Given the description of an element on the screen output the (x, y) to click on. 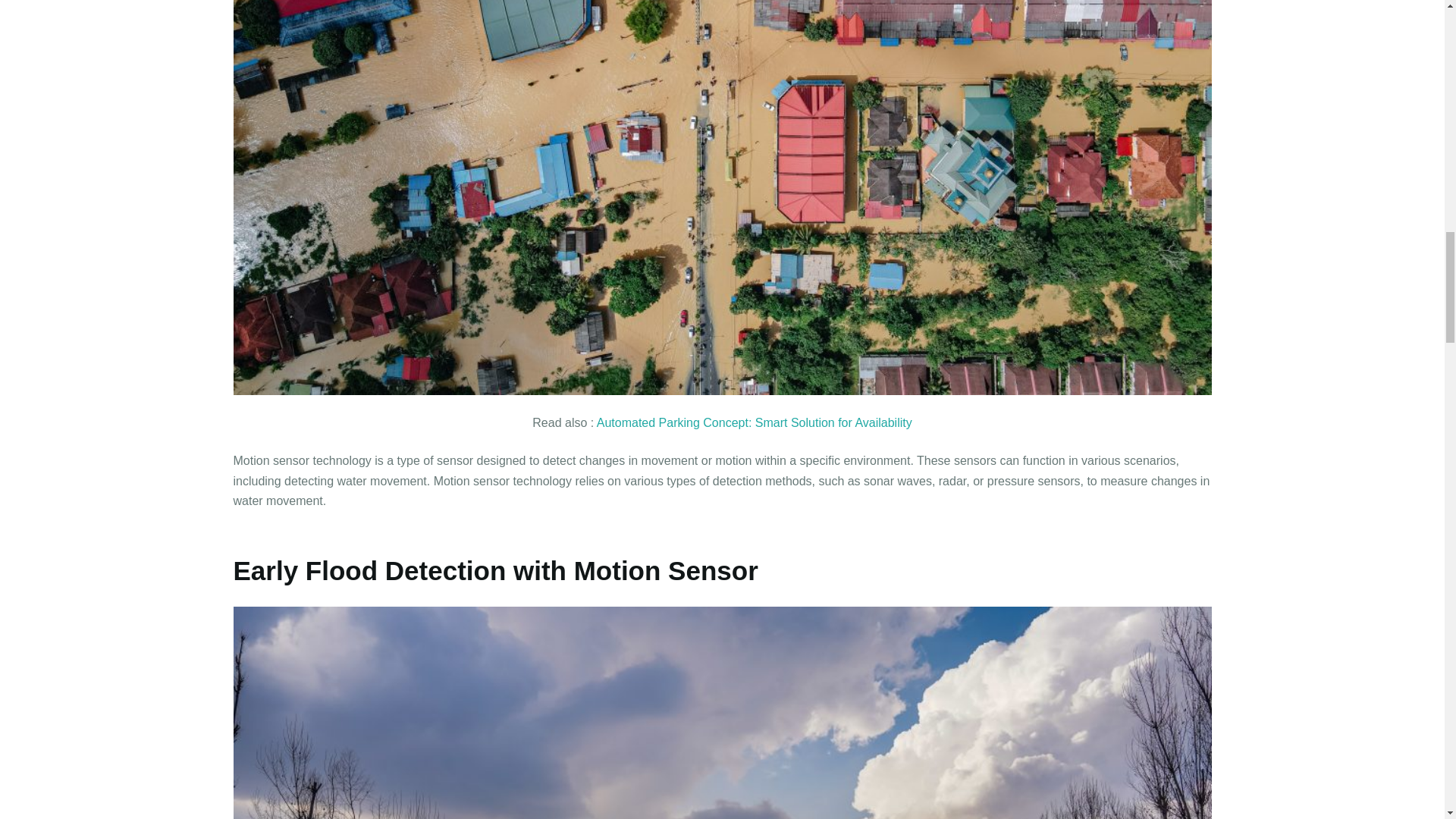
Automated Parking Concept: Smart Solution for Availability (754, 422)
